Given the description of an element on the screen output the (x, y) to click on. 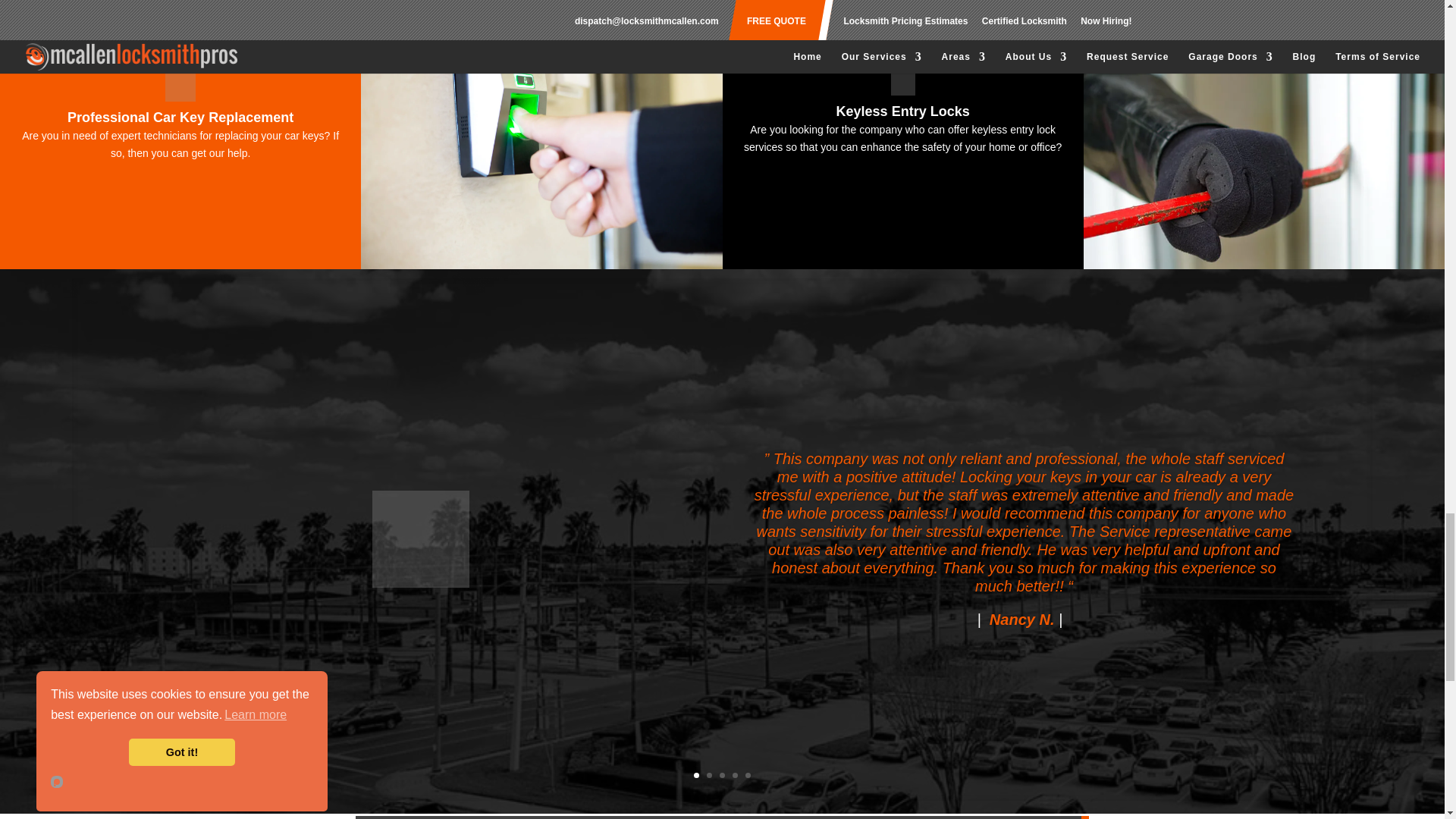
Professional Car Key Replacement (180, 24)
Keyless Entry Locks (902, 24)
burglary-damage-repair (902, 14)
Professional Car Key Replacement (180, 14)
